Given the description of an element on the screen output the (x, y) to click on. 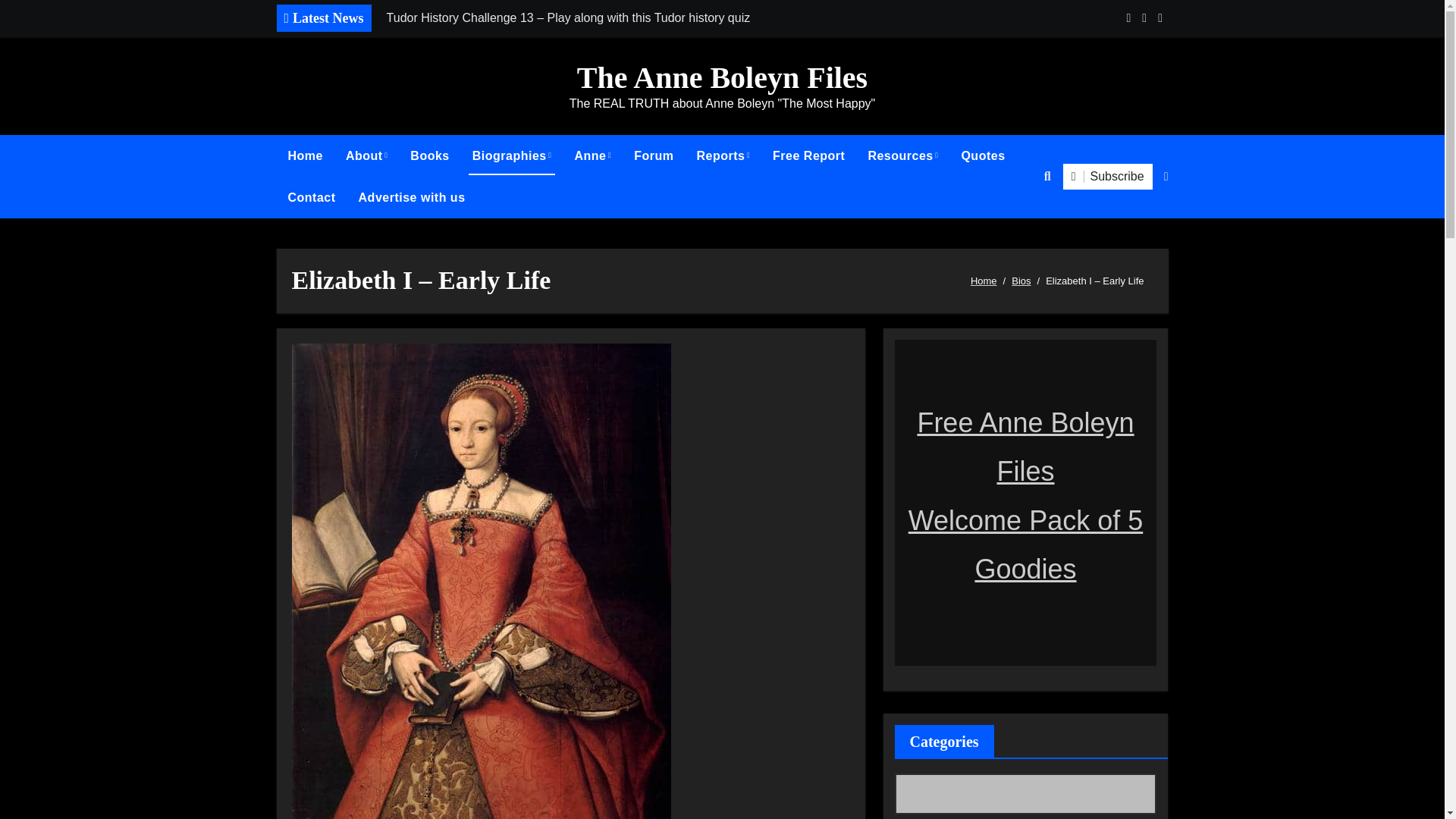
Biographies (512, 155)
The Anne Boleyn Files (721, 77)
Books (429, 155)
About (366, 155)
About (366, 155)
Home (304, 155)
Biographies (512, 155)
Books (429, 155)
Home (304, 155)
